Given the description of an element on the screen output the (x, y) to click on. 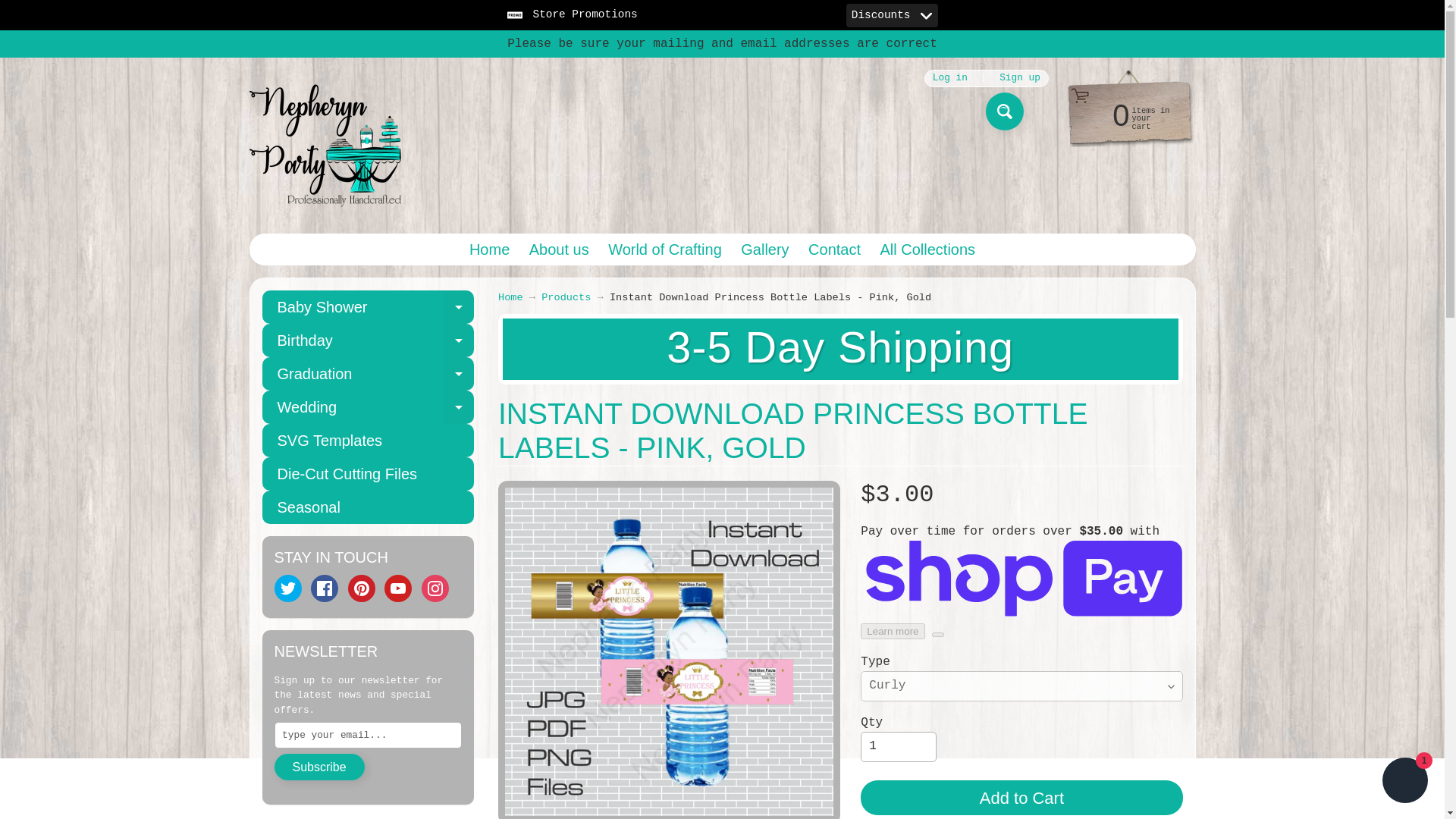
Nepheryn Party (324, 145)
All Collections (368, 306)
Search (927, 249)
Youtube (1004, 111)
Sign up (398, 587)
About us (1020, 78)
1 (558, 249)
Home (898, 747)
Gallery (488, 249)
Facebook (764, 249)
Expand child menu (324, 587)
Instagram (459, 306)
Twitter (435, 587)
Back to the home page (288, 587)
